Given the description of an element on the screen output the (x, y) to click on. 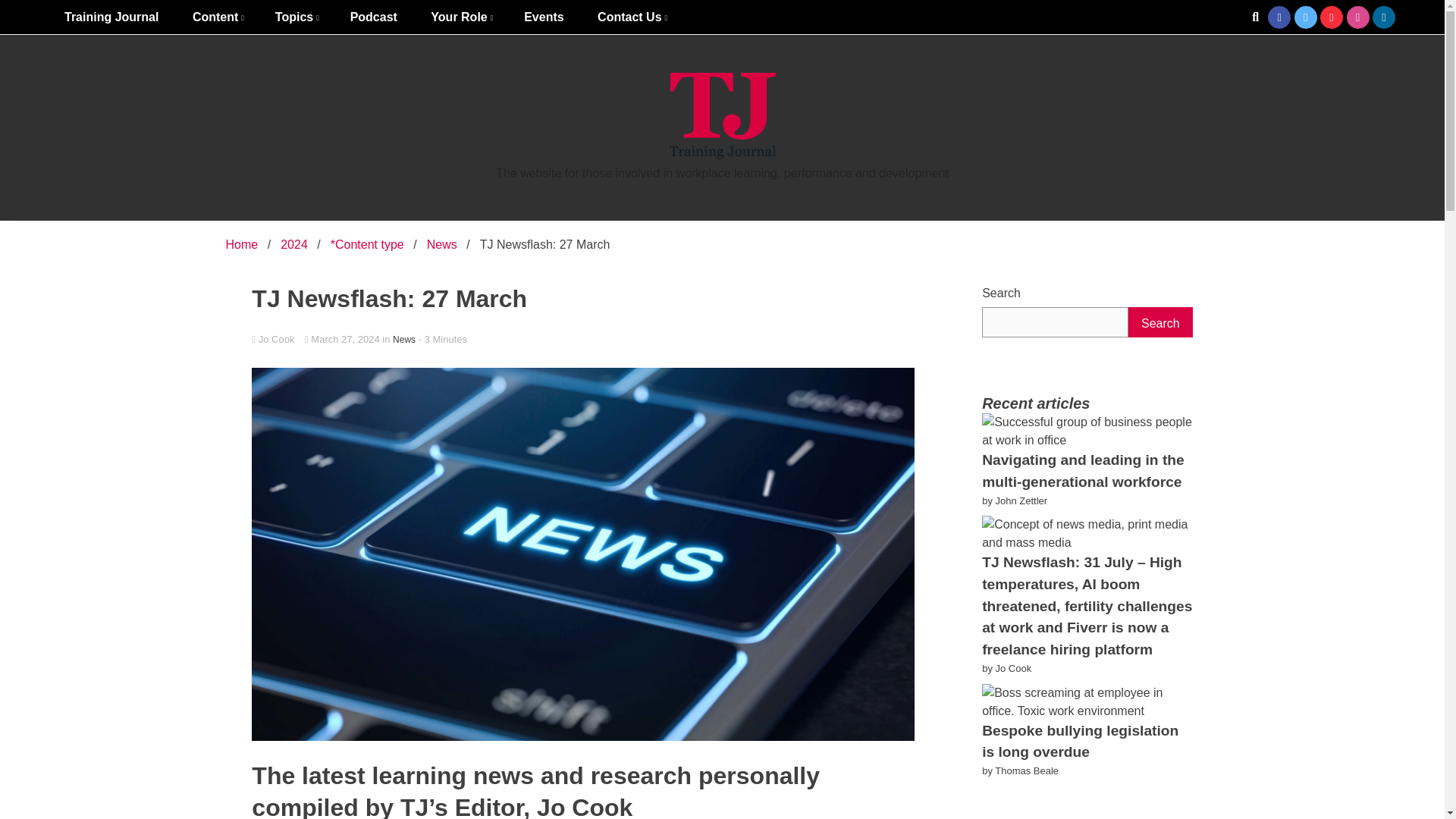
Topics (295, 17)
Training Journal (111, 17)
Estimated Reading Time of Article (443, 338)
Content (216, 17)
Your Role (459, 17)
Events (543, 17)
Podcast (373, 17)
